Given the description of an element on the screen output the (x, y) to click on. 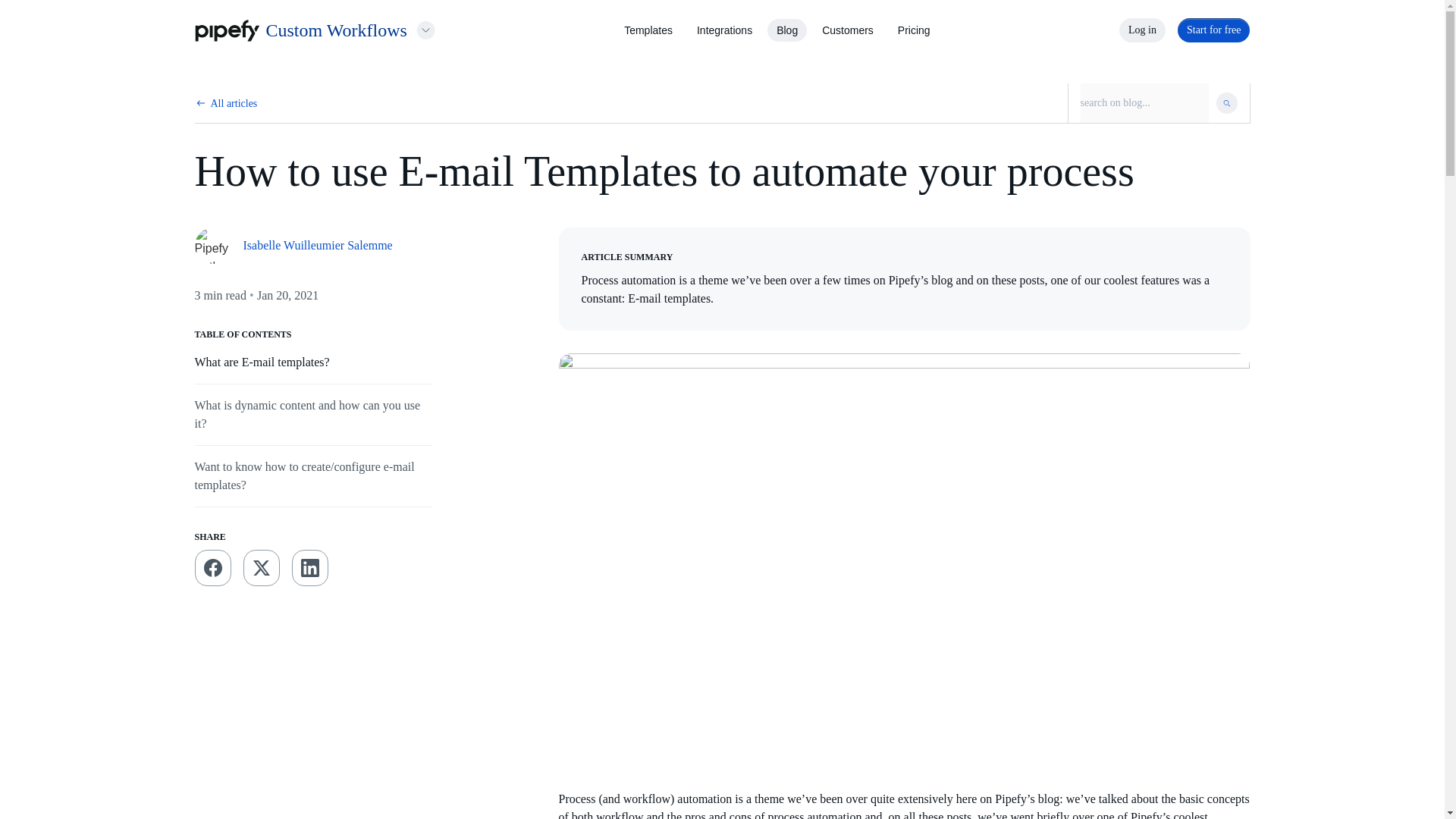
Log in (1142, 30)
Integrations (724, 30)
Pricing (914, 30)
What are E-mail templates? (261, 361)
workflow (619, 814)
Custom Workflows (335, 29)
What is dynamic content and how can you use it? (306, 413)
All articles (234, 103)
search on blog... (1144, 102)
Start for free (1213, 30)
